Given the description of an element on the screen output the (x, y) to click on. 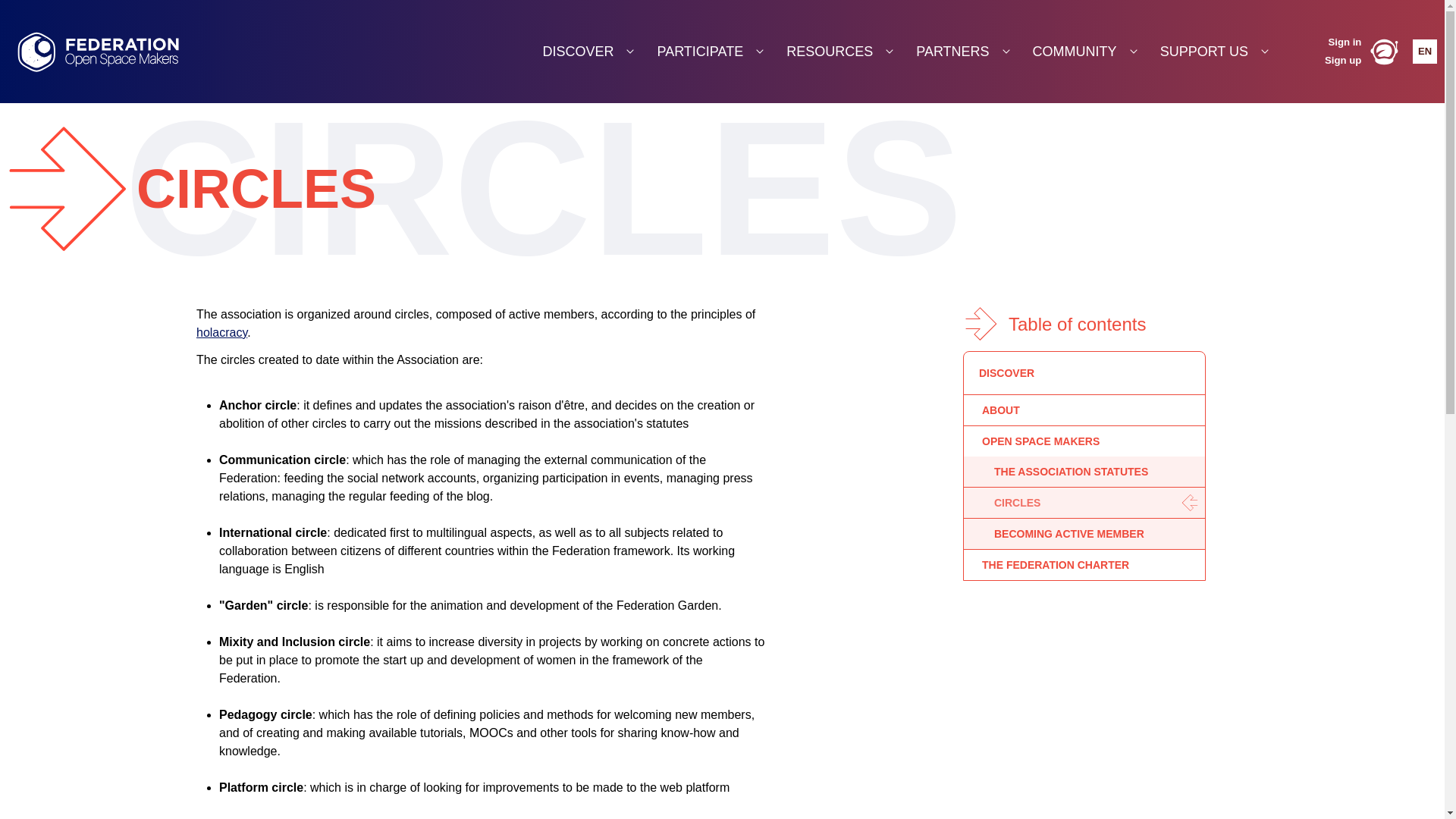
User (1383, 51)
DISCOVER (587, 51)
Table of contents (1083, 323)
PARTICIPATE (709, 51)
PARTNERS (961, 51)
COMMUNITY (1085, 51)
Sign in (1344, 42)
Go to home page (123, 51)
RESOURCES (839, 51)
Sign up (1342, 60)
